Given the description of an element on the screen output the (x, y) to click on. 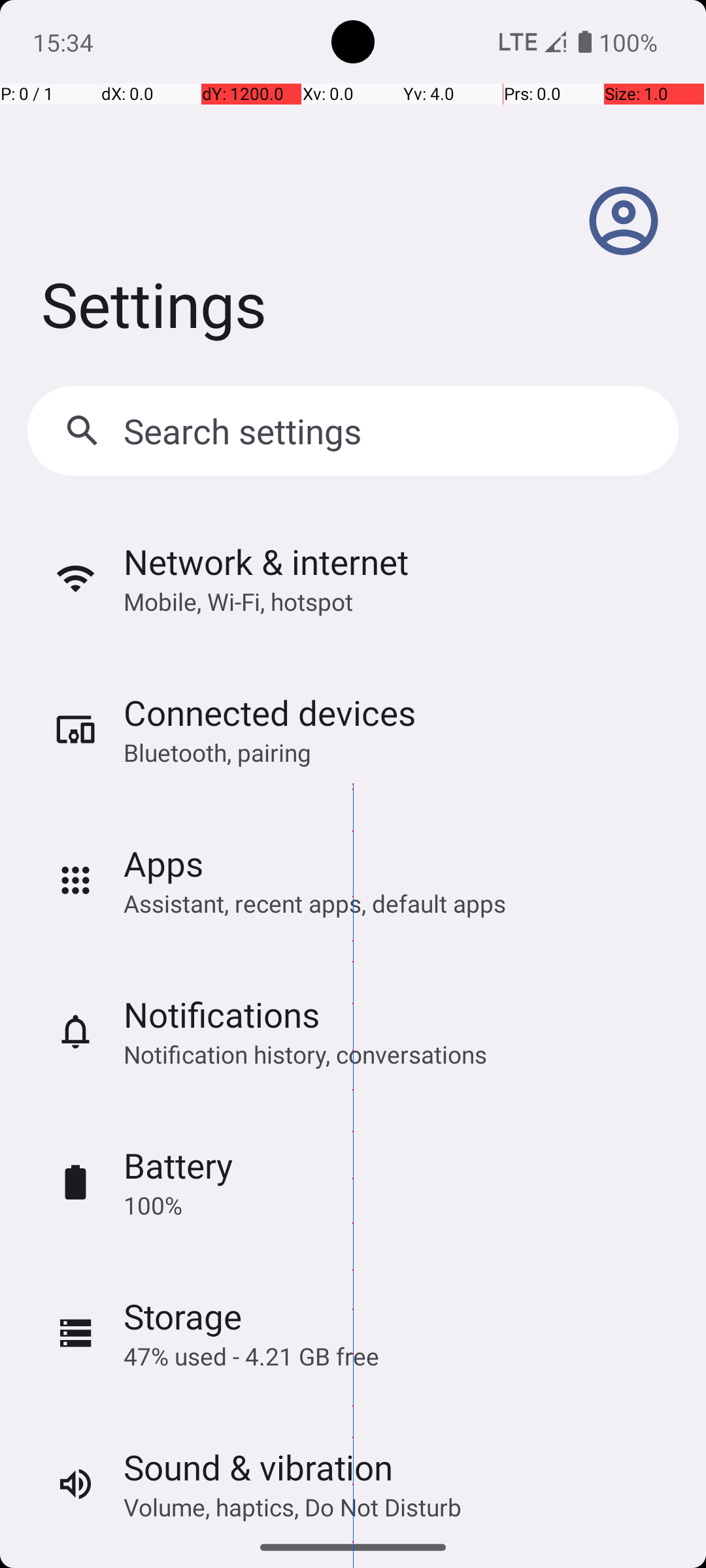
47% used - 4.21 GB free Element type: android.widget.TextView (251, 1355)
